Given the description of an element on the screen output the (x, y) to click on. 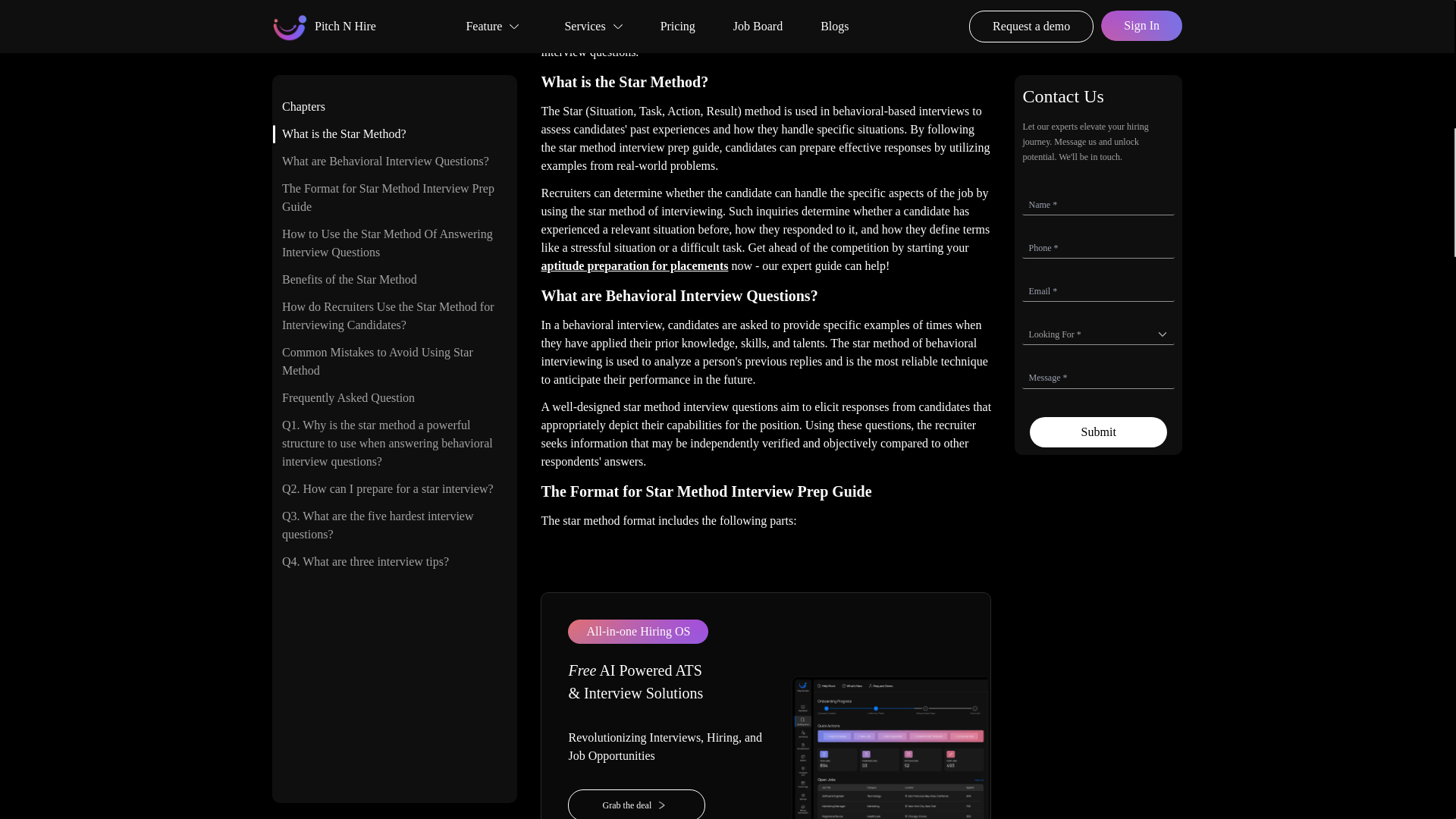
Grab the deal (666, 804)
Grab the deal (635, 804)
aptitude preparation for placements (634, 265)
